Given the description of an element on the screen output the (x, y) to click on. 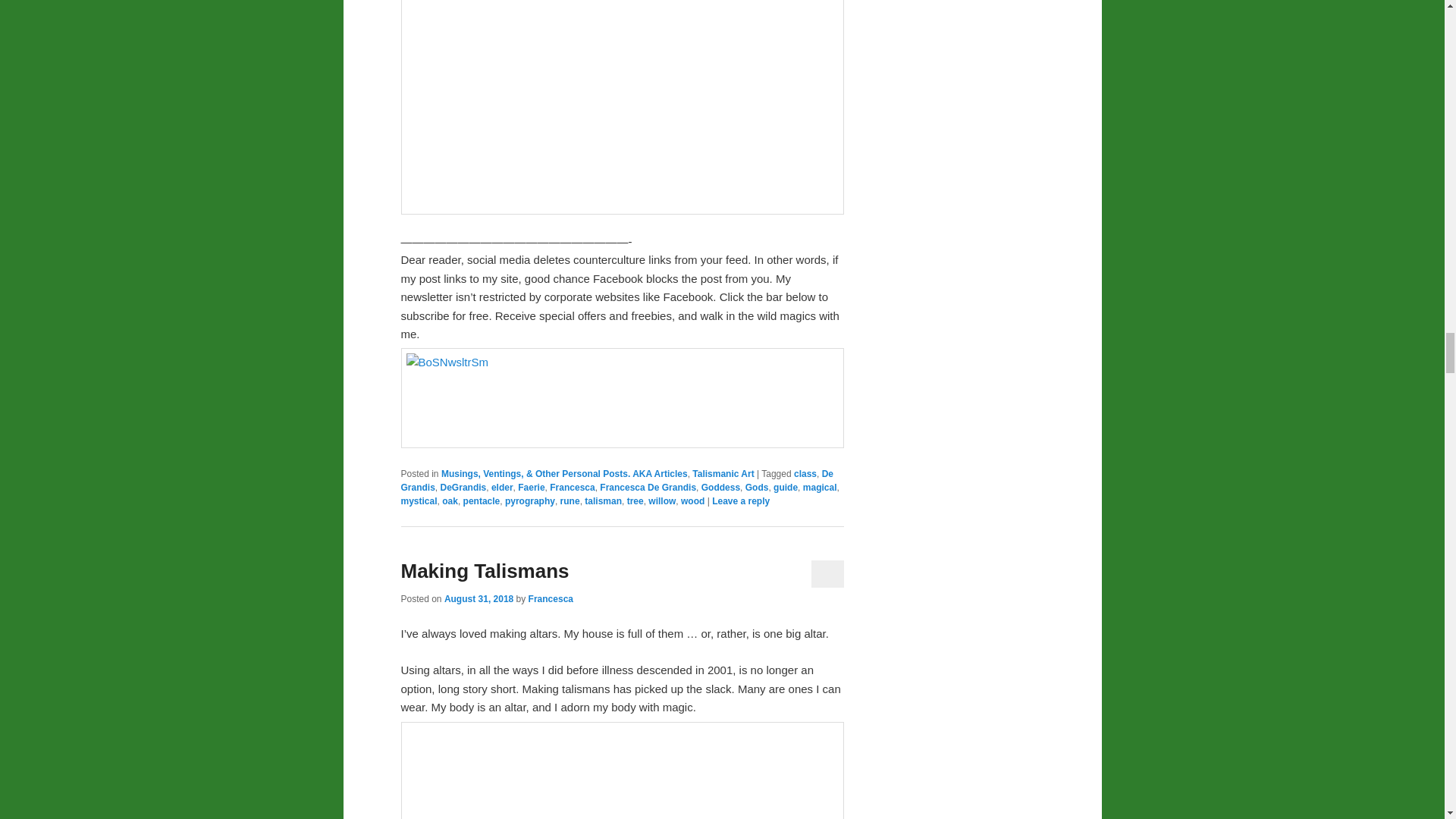
elder (502, 487)
Gods (756, 487)
class (804, 473)
Talismanic Art (723, 473)
DeGrandis (463, 487)
Francesca De Grandis (647, 487)
Goddess (720, 487)
Faerie (531, 487)
Francesca (572, 487)
View all posts by Francesca (550, 598)
8:02 pm (478, 598)
De Grandis (616, 480)
